Given the description of an element on the screen output the (x, y) to click on. 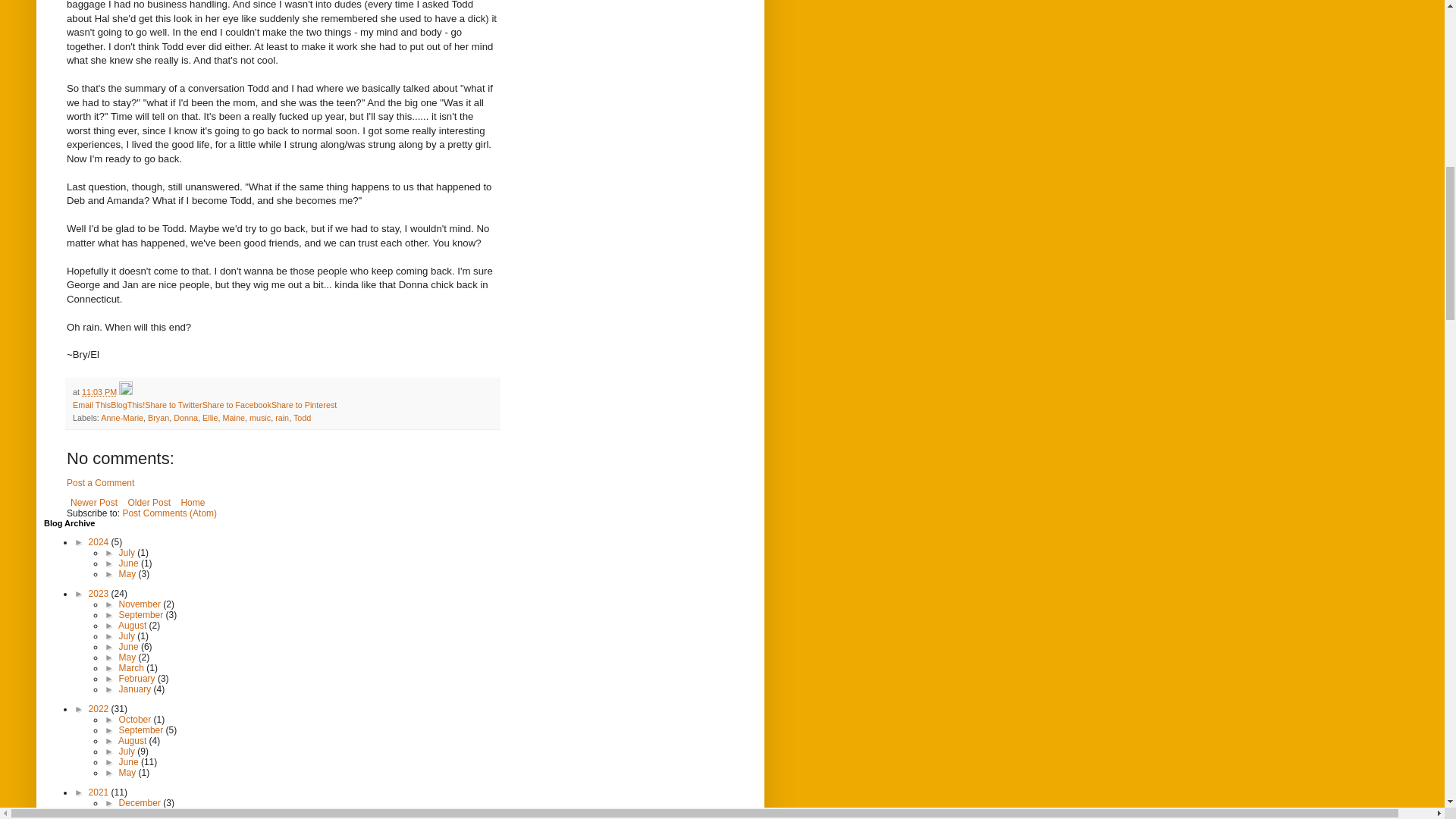
BlogThis! (127, 404)
Maine (233, 417)
May (128, 573)
Post a Comment (99, 482)
BlogThis! (127, 404)
Share to Pinterest (303, 404)
music (259, 417)
Email This (91, 404)
Share to Twitter (173, 404)
Email This (91, 404)
Share to Twitter (173, 404)
September (142, 614)
11:03 PM (98, 391)
Older Post (148, 502)
Share to Pinterest (303, 404)
